Given the description of an element on the screen output the (x, y) to click on. 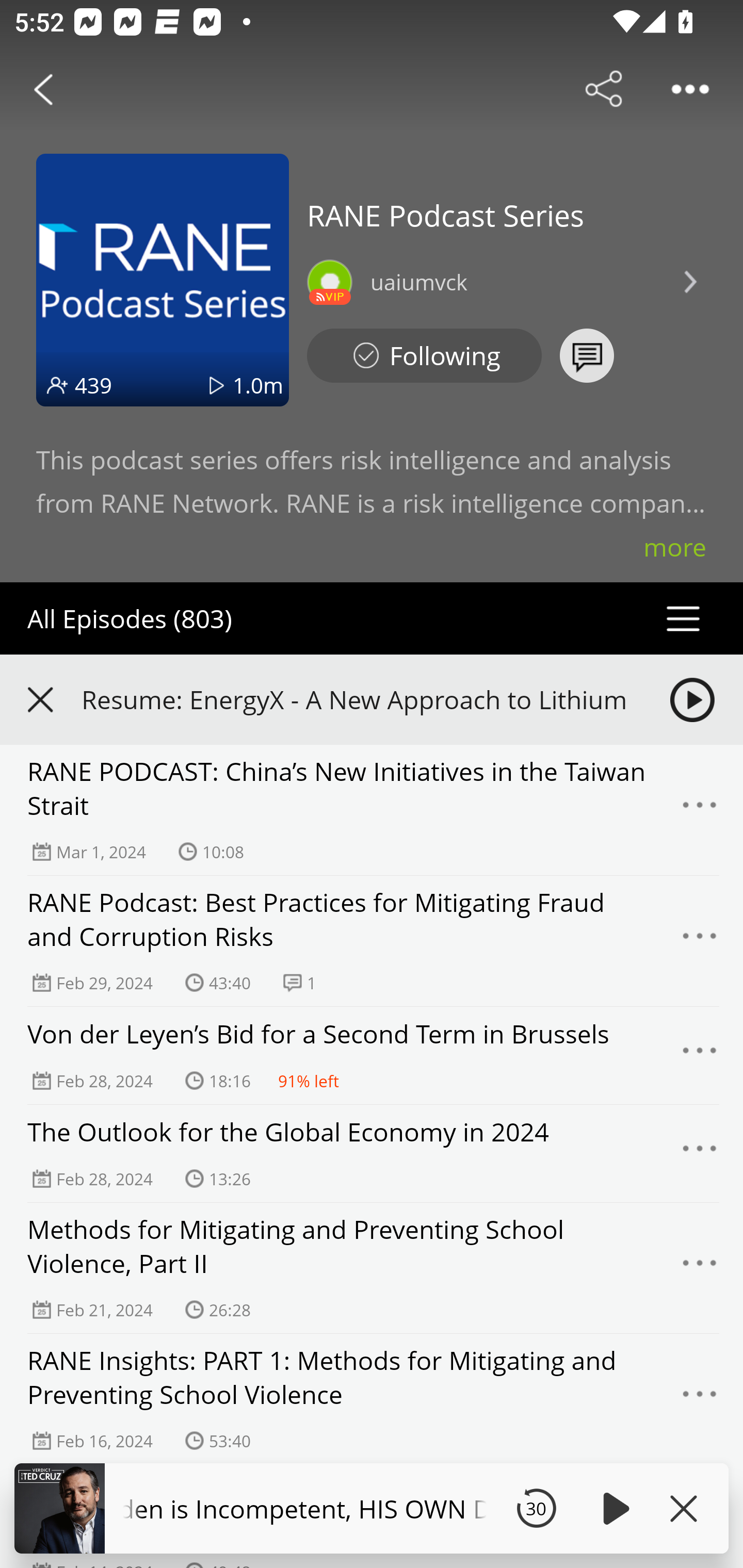
Back (43, 88)
Podbean Following (423, 355)
439 (93, 384)
more (674, 546)
Resume: EnergyX - A New Approach to Lithium (371, 698)
Resume: EnergyX - A New Approach to Lithium (357, 698)
Menu (699, 809)
Menu (699, 941)
Menu (699, 1055)
Menu (699, 1153)
Menu (699, 1268)
Menu (699, 1399)
Play (613, 1507)
30 Seek Backward (536, 1508)
